Given the description of an element on the screen output the (x, y) to click on. 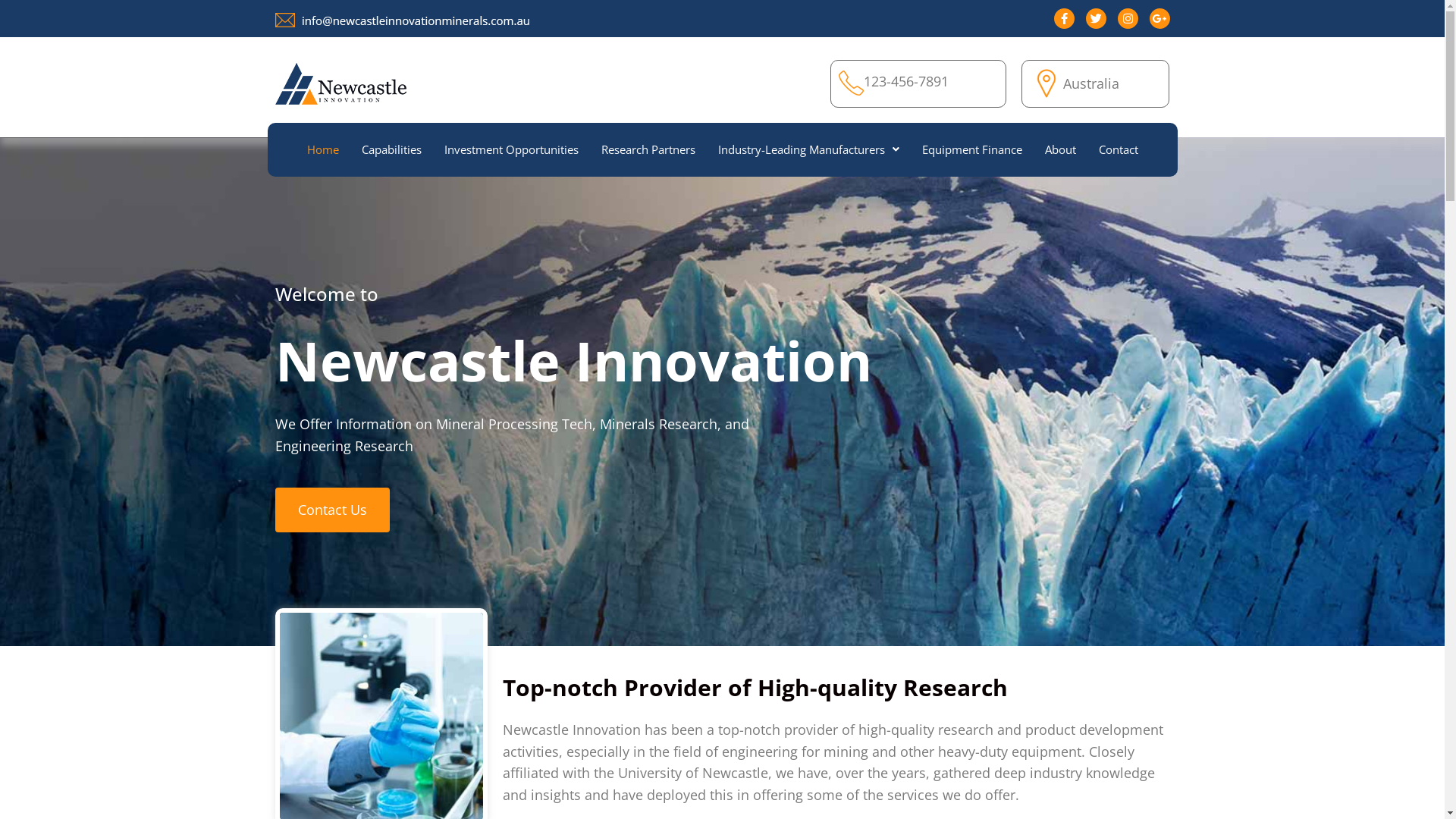
Industry-Leading Manufacturers Element type: text (808, 149)
Contact Us Element type: text (331, 509)
Equipment Finance Element type: text (971, 149)
Home Element type: text (322, 149)
About Element type: text (1059, 149)
Research Partners Element type: text (647, 149)
Capabilities Element type: text (391, 149)
Investment Opportunities Element type: text (510, 149)
Contact Element type: text (1118, 149)
